Given the description of an element on the screen output the (x, y) to click on. 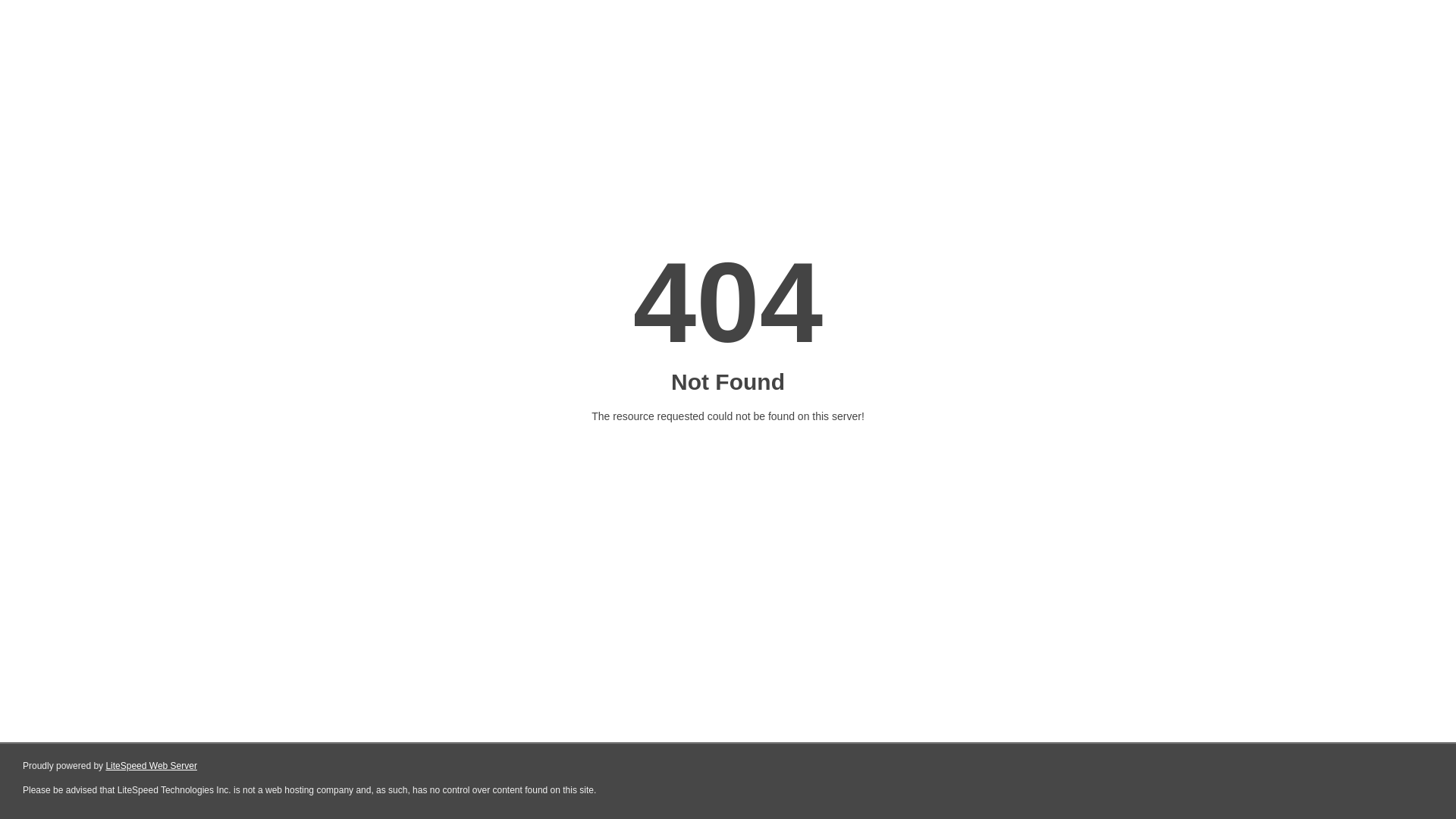
LiteSpeed Web Server Element type: text (151, 765)
